Given the description of an element on the screen output the (x, y) to click on. 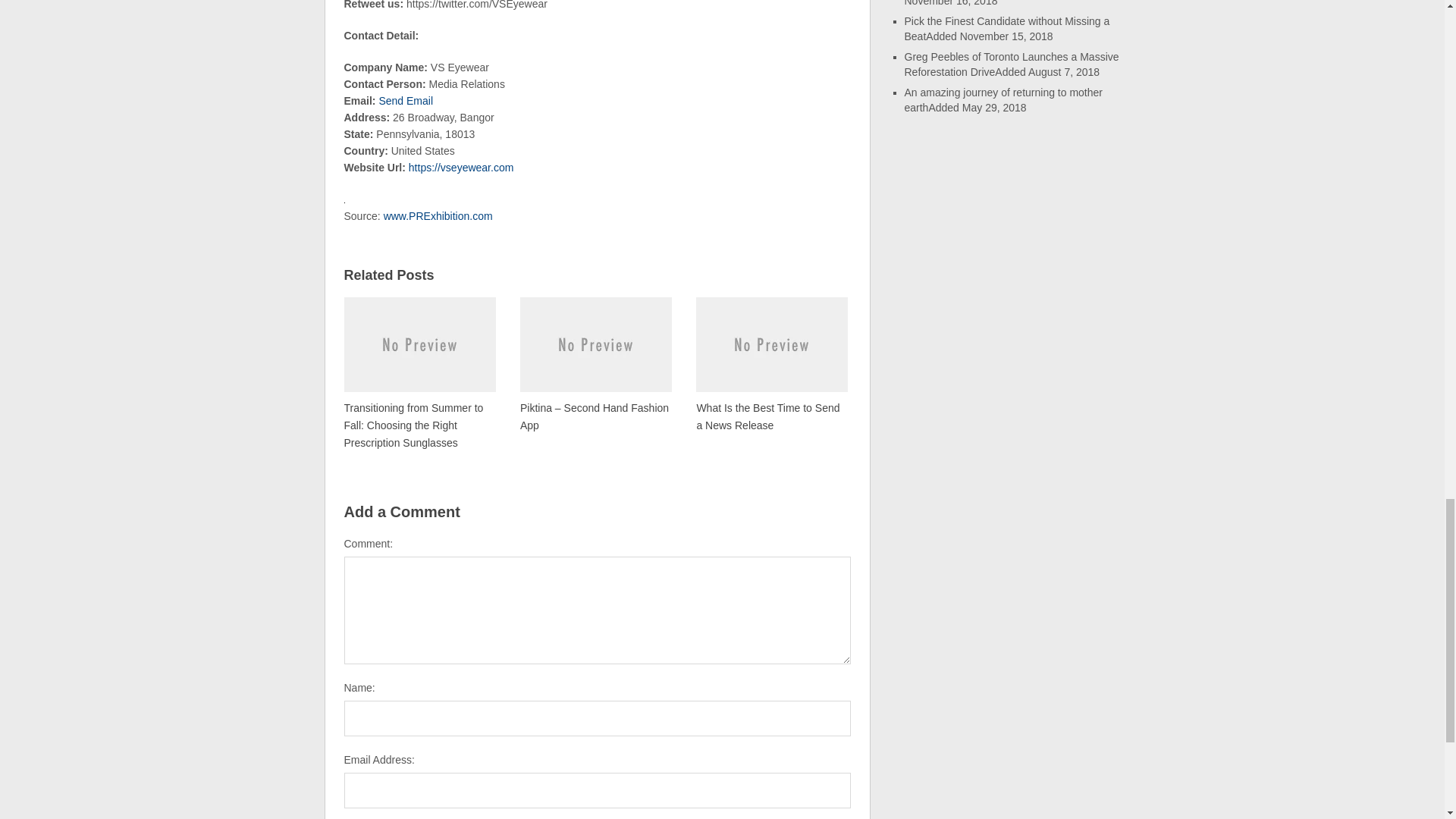
What Is the Best Time to Send a News Release (771, 363)
www.PRExhibition.com (438, 215)
What Is the Best Time to Send a News Release (771, 363)
Send Email (405, 101)
